Given the description of an element on the screen output the (x, y) to click on. 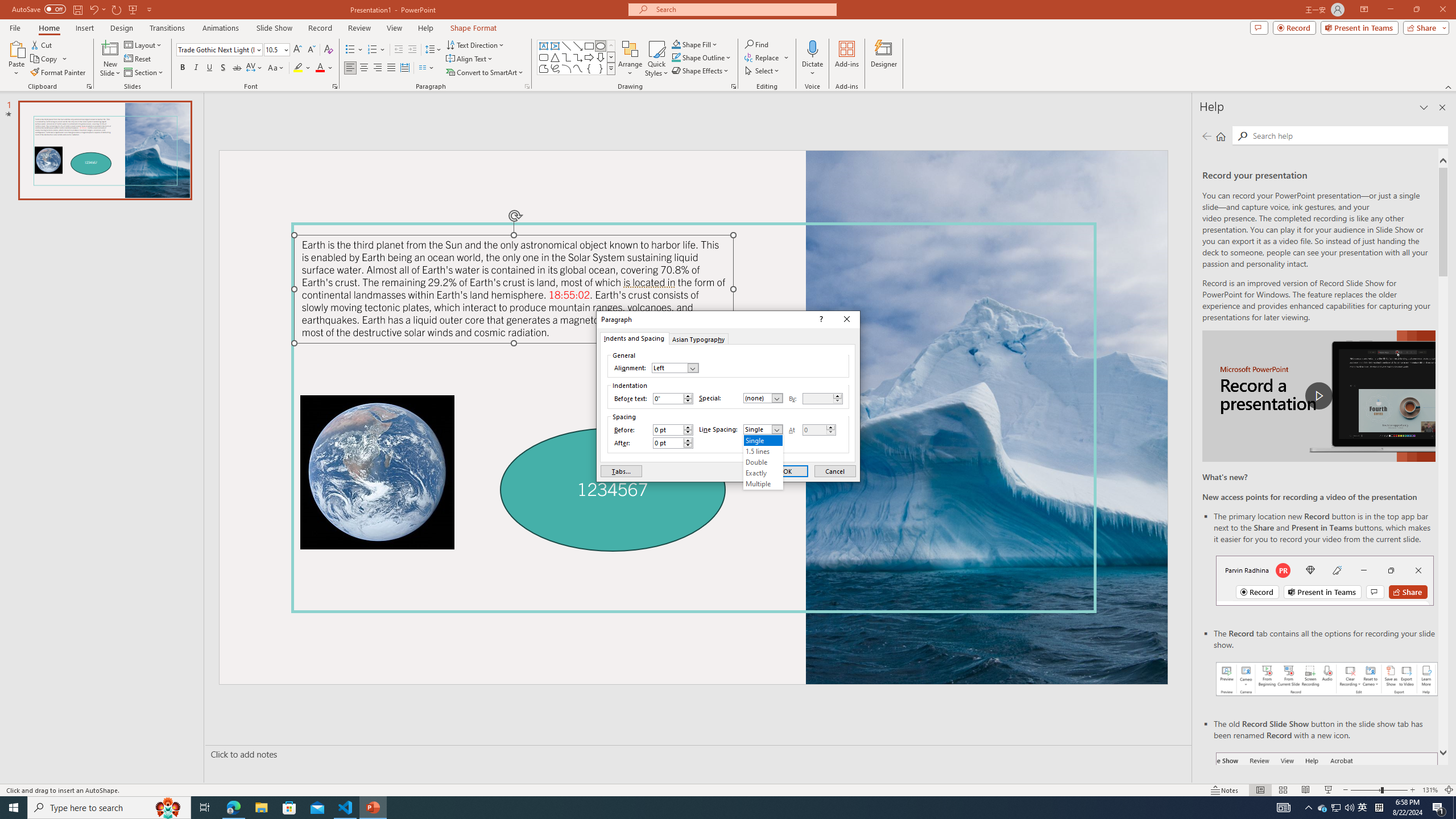
Li&ne Spacing: (763, 461)
Shape Outline Teal, Accent 1 (675, 56)
Before (667, 429)
